Given the description of an element on the screen output the (x, y) to click on. 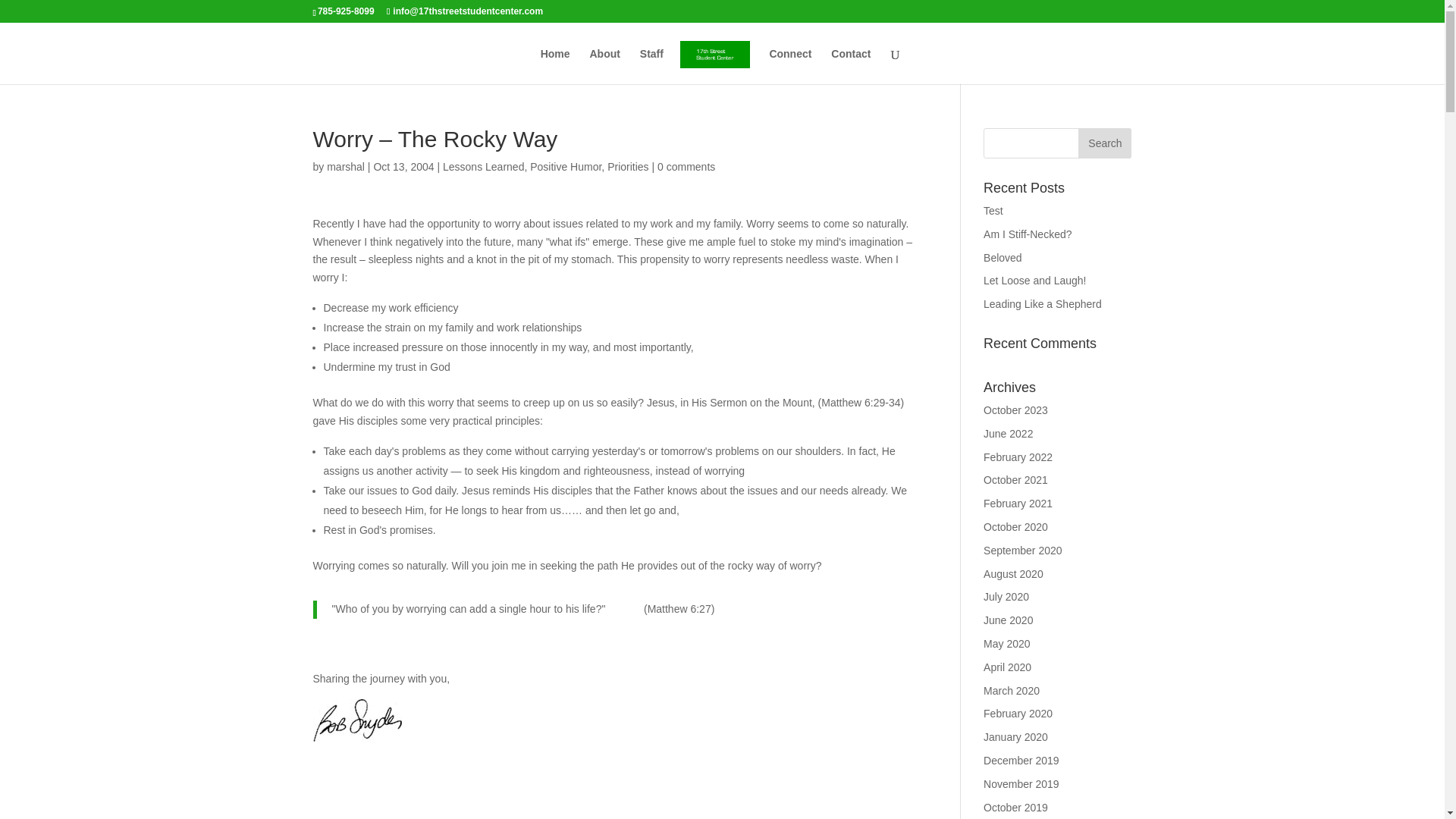
Positive Humor (565, 166)
June 2022 (1008, 433)
Priorities (627, 166)
April 2020 (1007, 666)
Beloved (1003, 257)
Let Loose and Laugh! (1035, 280)
May 2020 (1006, 644)
Lessons Learned (483, 166)
0 comments (686, 166)
January 2020 (1016, 736)
Leading Like a Shepherd (1043, 304)
Am I Stiff-Necked? (1027, 234)
March 2020 (1011, 690)
July 2020 (1006, 596)
September 2020 (1023, 550)
